Given the description of an element on the screen output the (x, y) to click on. 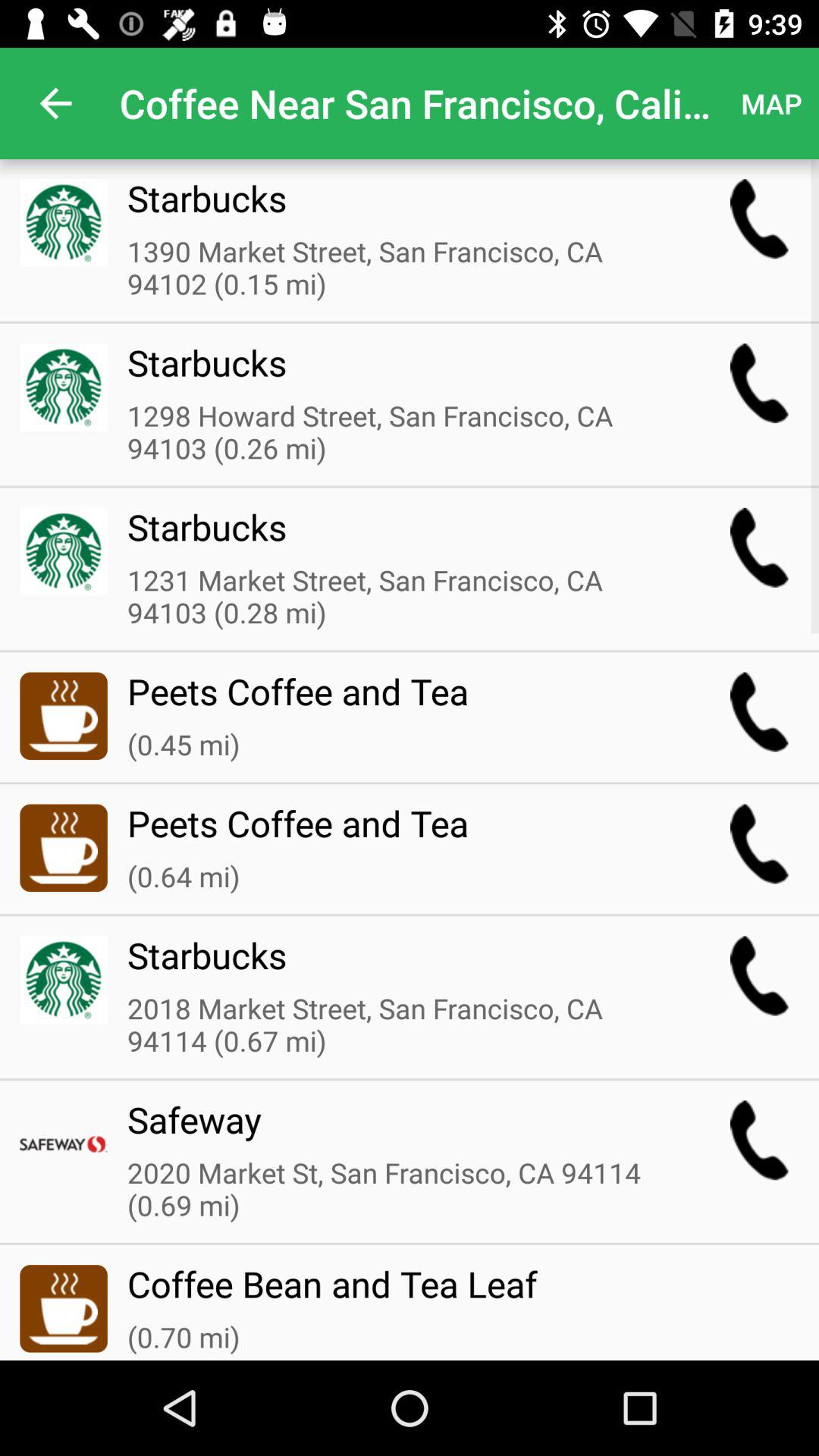
open icon below the safeway item (398, 1189)
